Given the description of an element on the screen output the (x, y) to click on. 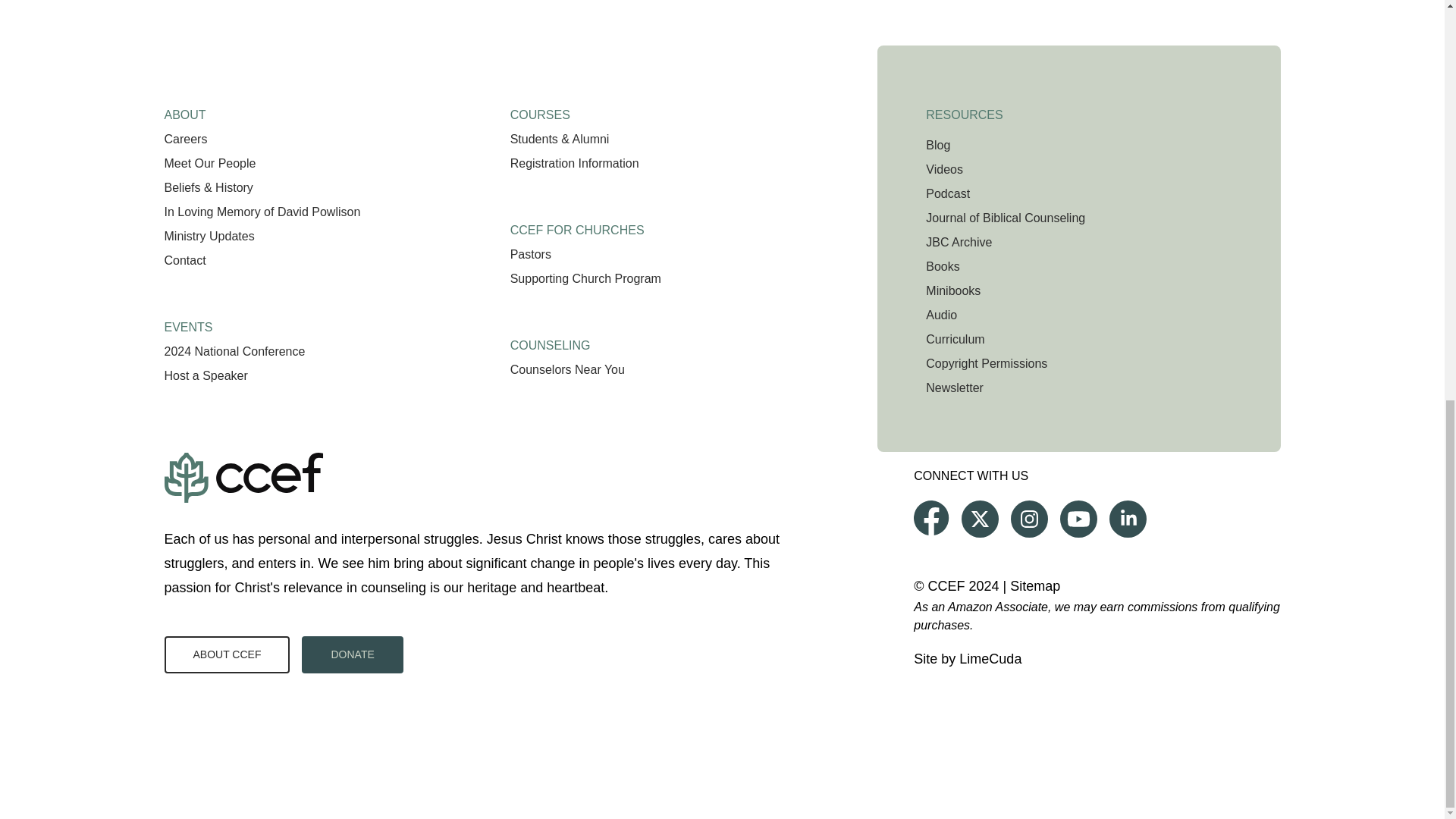
EVENTS (187, 321)
Careers (184, 138)
ABOUT (184, 109)
Contact (184, 259)
2024 National Conference (233, 350)
Ministry Updates (208, 236)
Meet Our People (209, 163)
In Loving Memory of David Powlison (261, 211)
COURSES (540, 109)
Host a Speaker (205, 375)
